Given the description of an element on the screen output the (x, y) to click on. 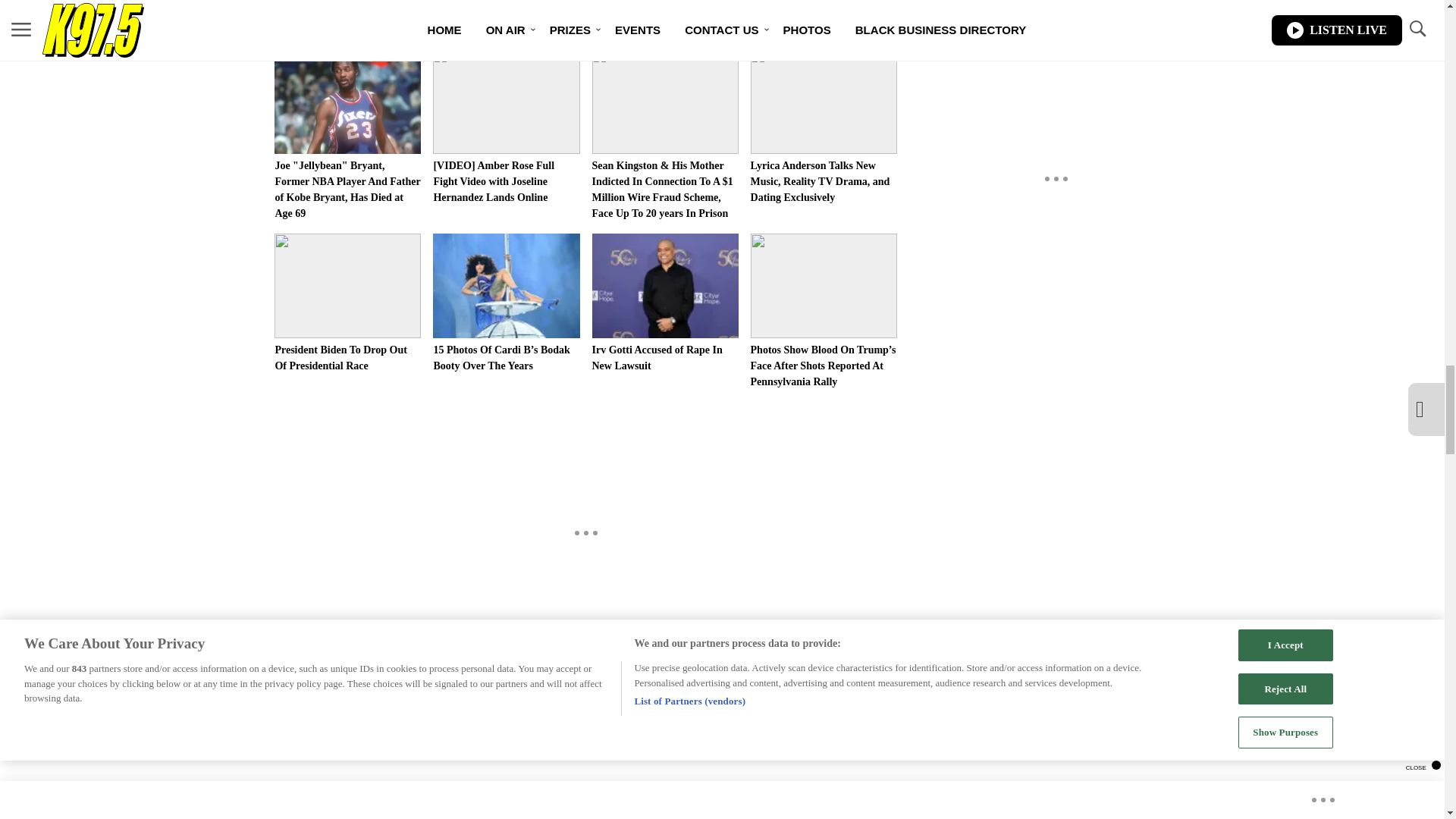
Vuukle Comments Widget (585, 747)
